Given the description of an element on the screen output the (x, y) to click on. 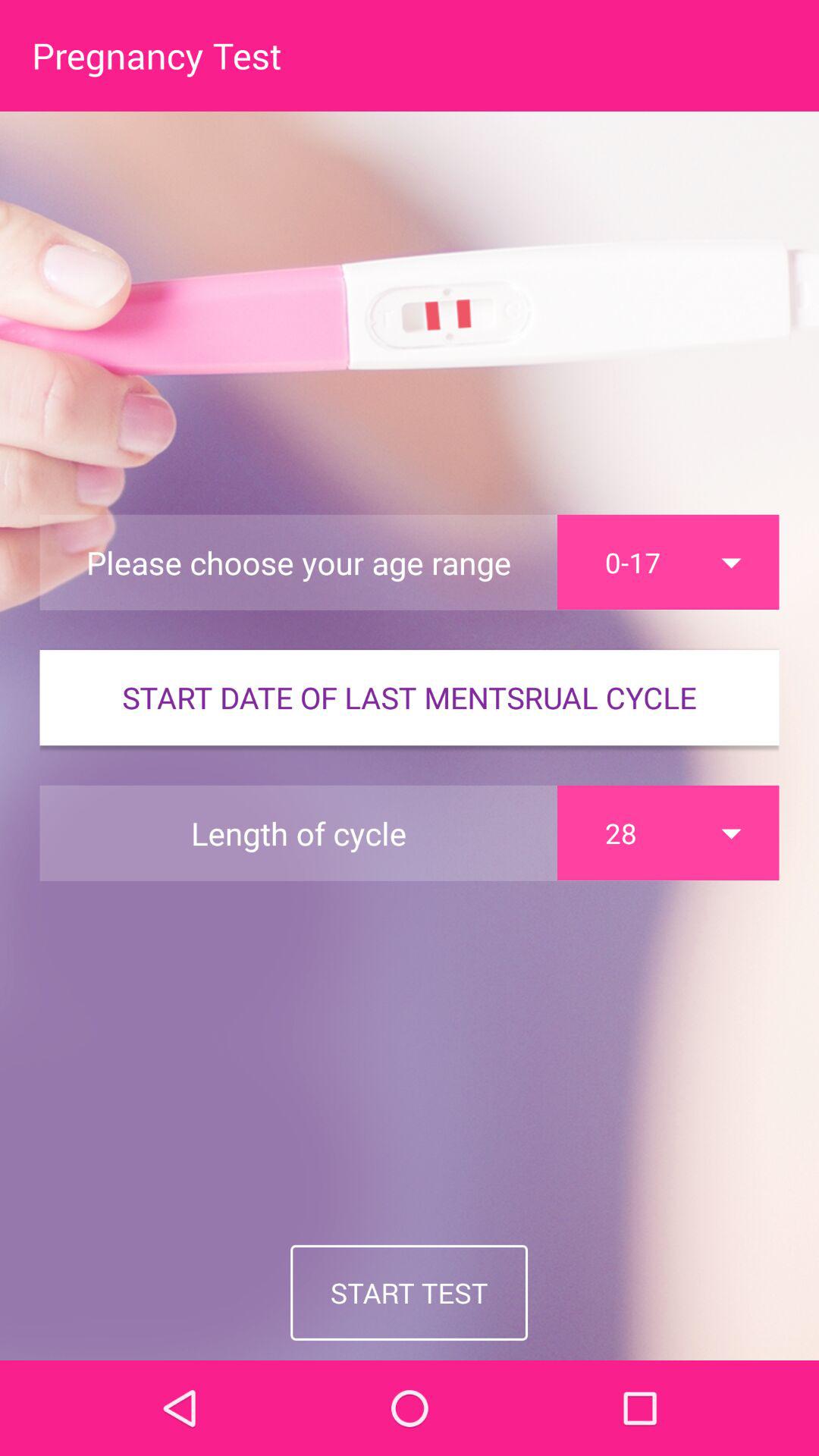
turn on icon below the 0-17 (409, 697)
